Given the description of an element on the screen output the (x, y) to click on. 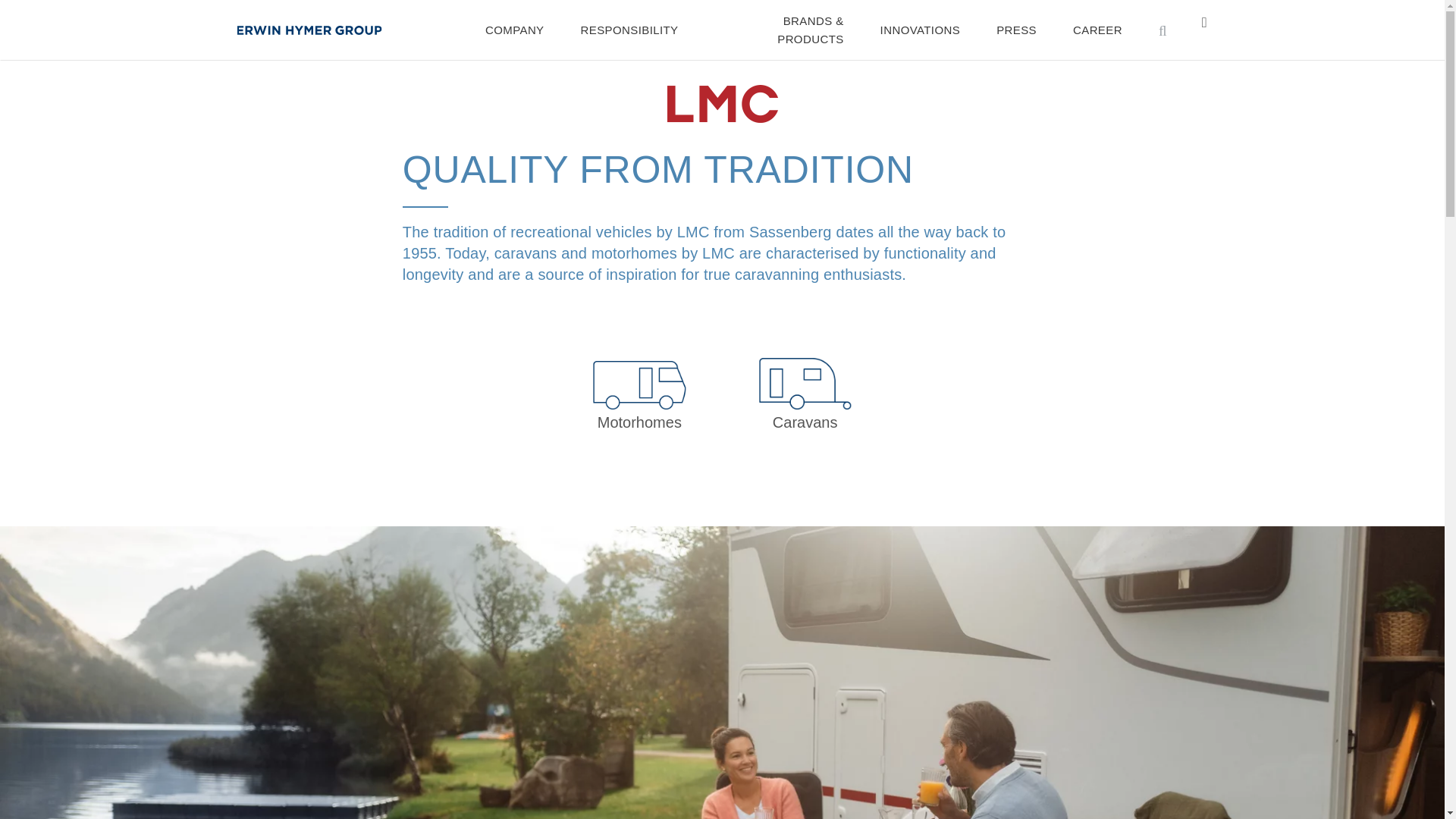
Press (1015, 29)
PRESS (1015, 29)
CAREER (1097, 29)
RESPONSIBILITY (629, 29)
INNOVATIONS (920, 29)
COMPANY (514, 29)
Career (1097, 29)
Company (514, 29)
